Given the description of an element on the screen output the (x, y) to click on. 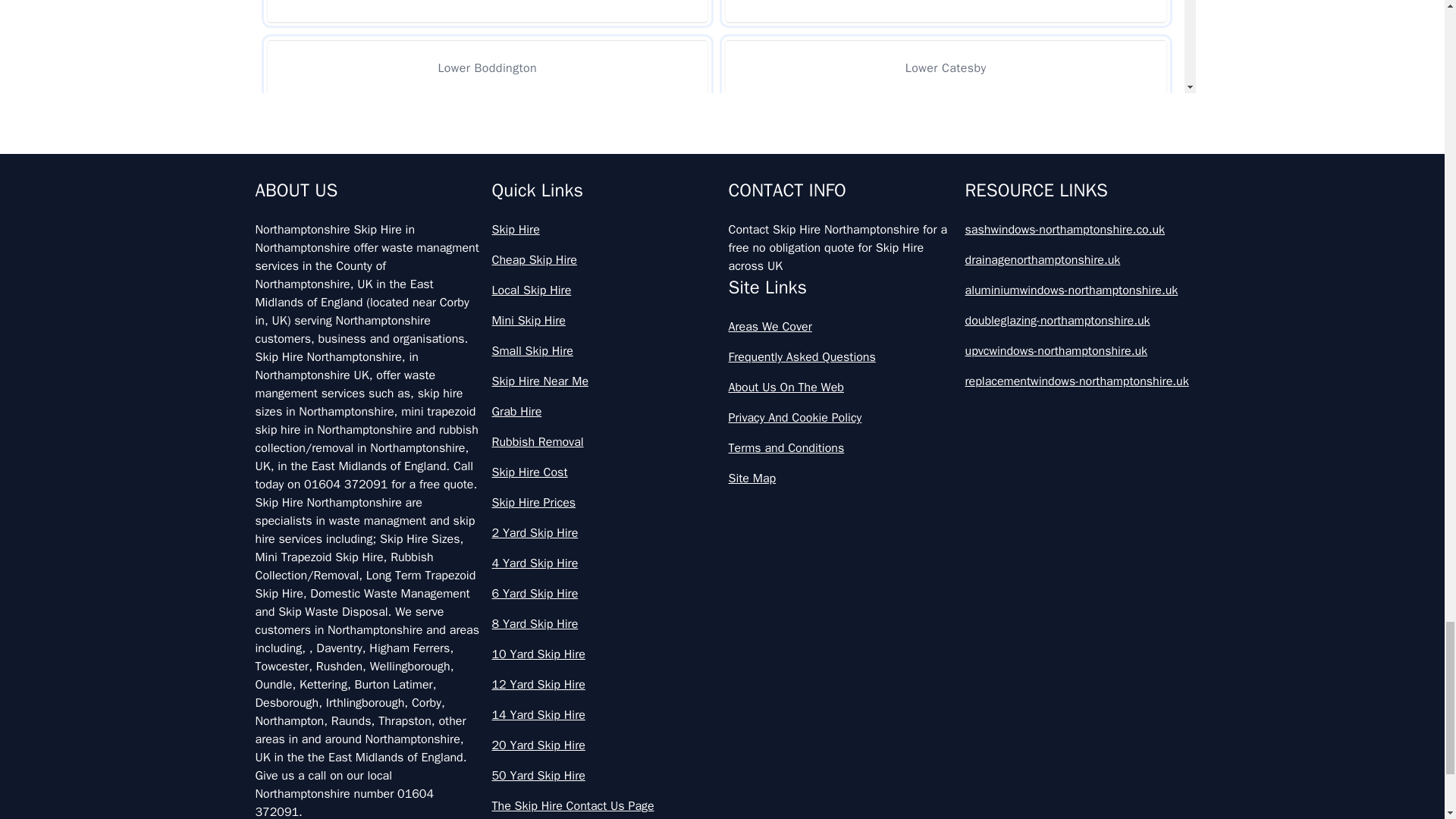
doubleglazing-northamptonshire.uk (1076, 321)
upvcwindows-northamptonshire.uk (1076, 351)
Westhorp (945, 214)
sashwindows-northamptonshire.co.uk (1076, 229)
Staverton (486, 140)
drainagenorthamptonshire.uk (1076, 259)
Lower Catesby (945, 67)
Upper Boddington (945, 140)
aluminiumwindows-northamptonshire.uk (1076, 290)
Church End (486, 11)
Lower Boddington (486, 67)
Hellidon (945, 11)
Upper Catesby (486, 214)
replacementwindows-northamptonshire.uk (1076, 381)
Site Map (840, 478)
